Given the description of an element on the screen output the (x, y) to click on. 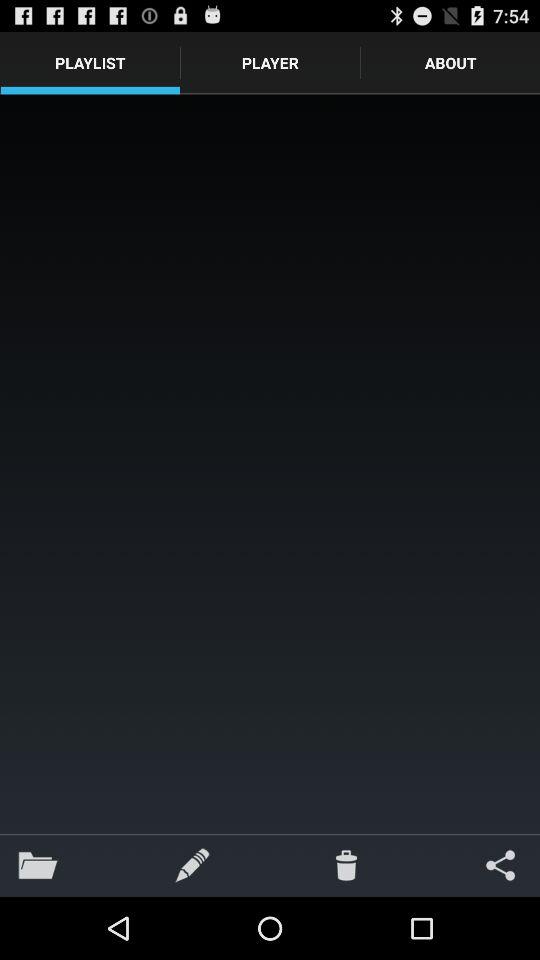
choose icon at the bottom right corner (500, 864)
